Given the description of an element on the screen output the (x, y) to click on. 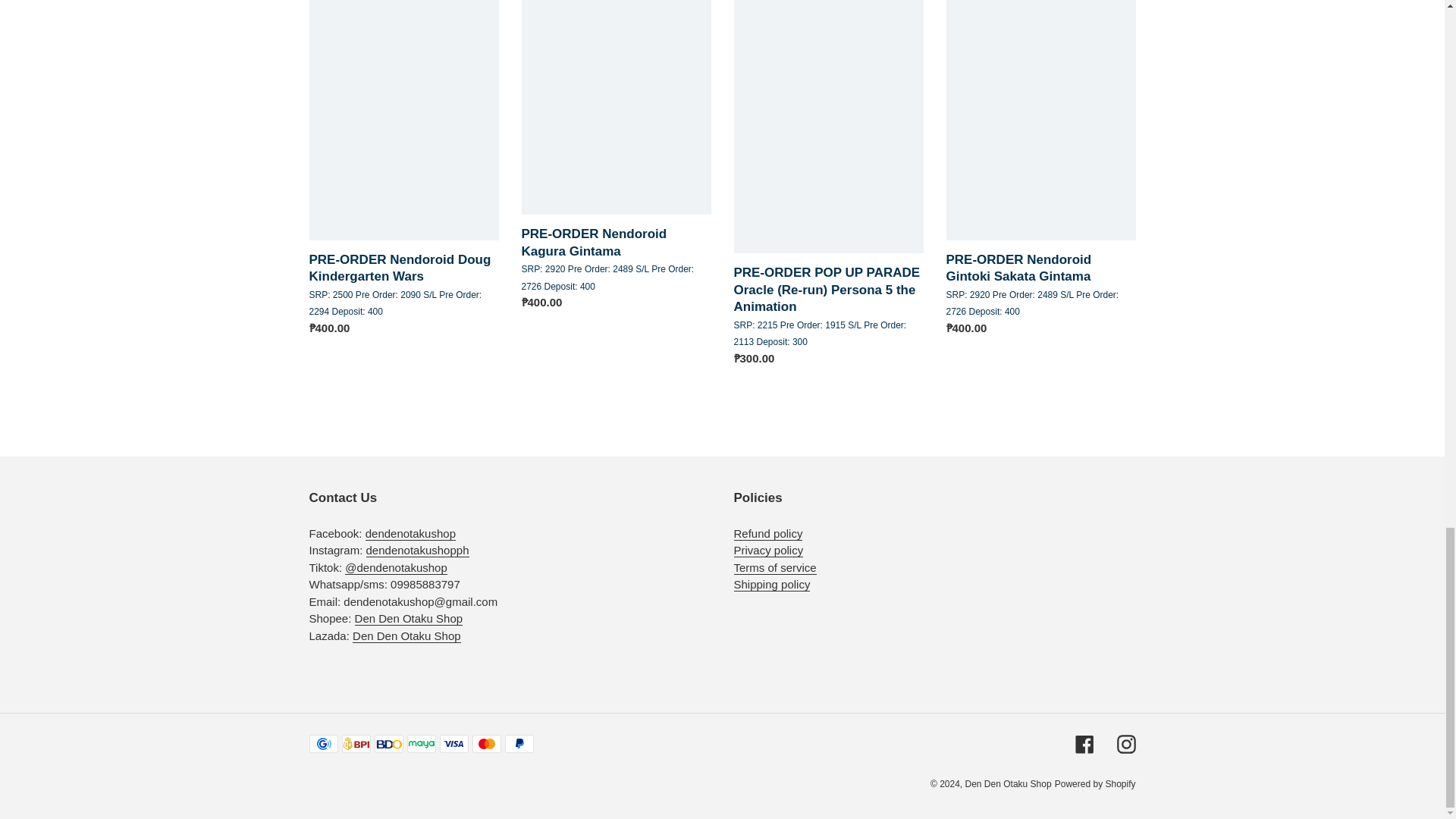
Shipping Policy (771, 584)
Terms of Service (774, 567)
Refund Policy (768, 533)
Privacy Policy (768, 550)
